Given the description of an element on the screen output the (x, y) to click on. 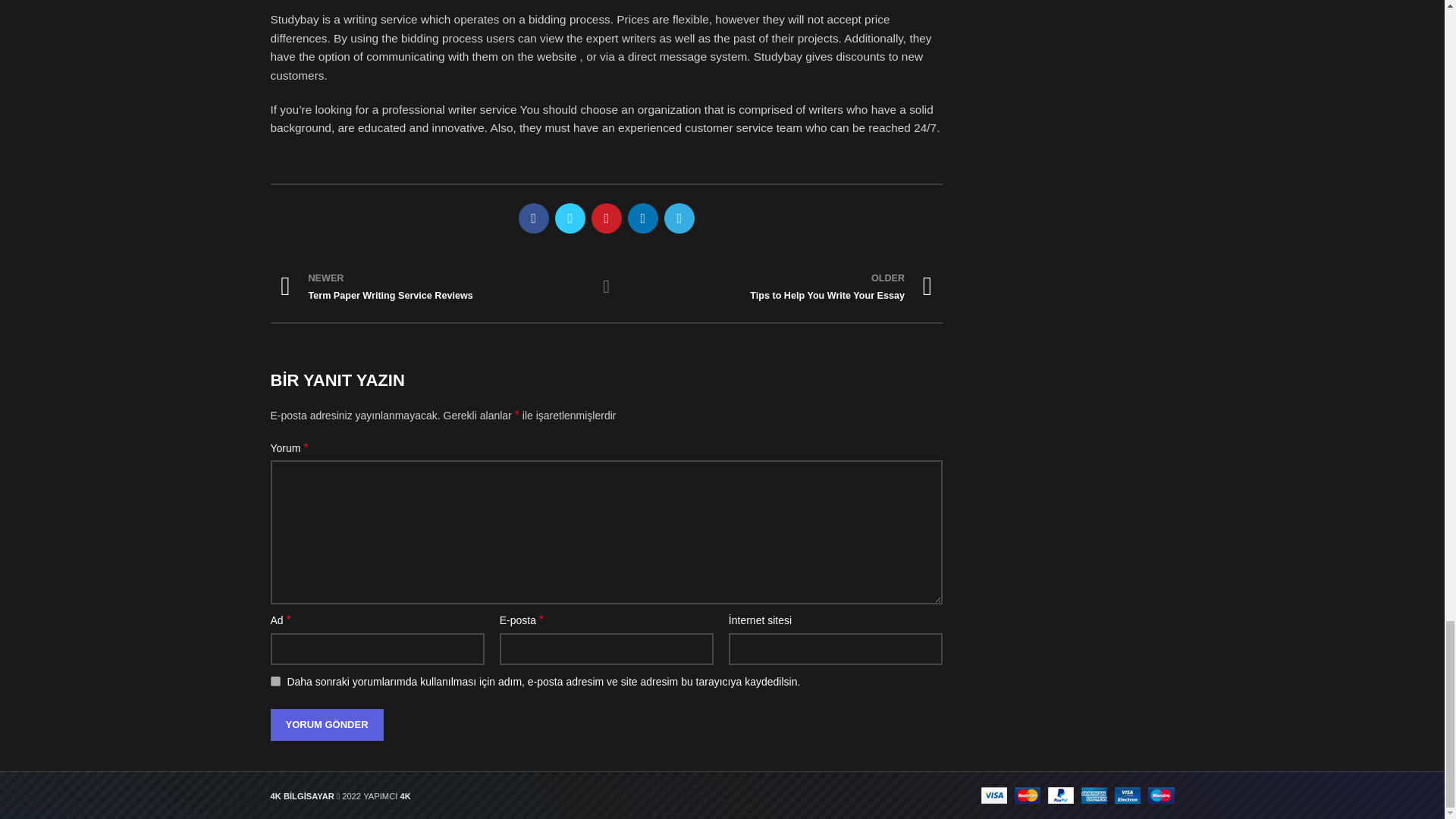
Back to list (432, 287)
yes (779, 287)
